Given the description of an element on the screen output the (x, y) to click on. 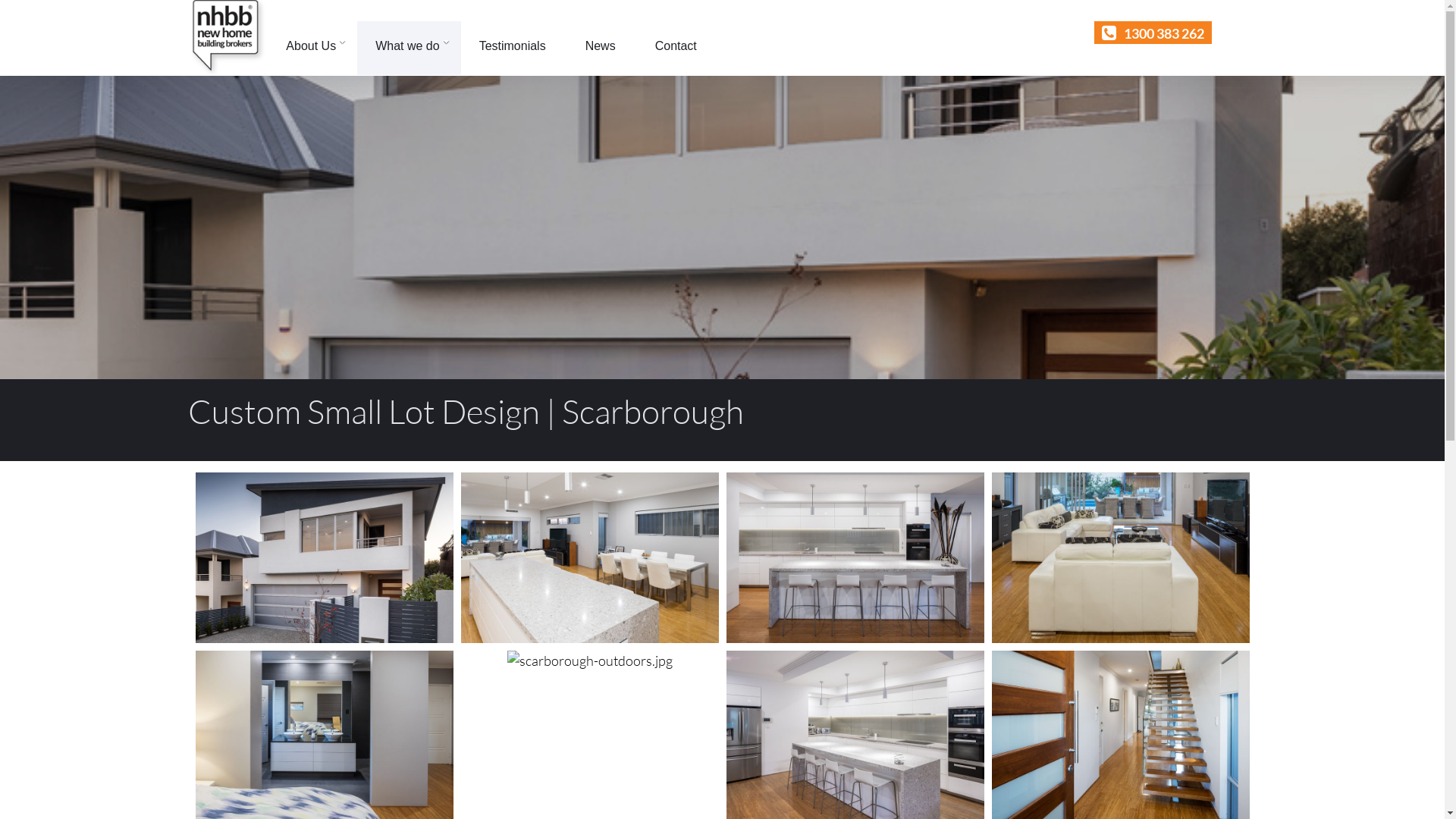
Testimonials Element type: text (514, 48)
Contact Element type: text (677, 48)
What we do Element type: text (408, 48)
About Us Element type: text (312, 48)
News Element type: text (602, 48)
